Given the description of an element on the screen output the (x, y) to click on. 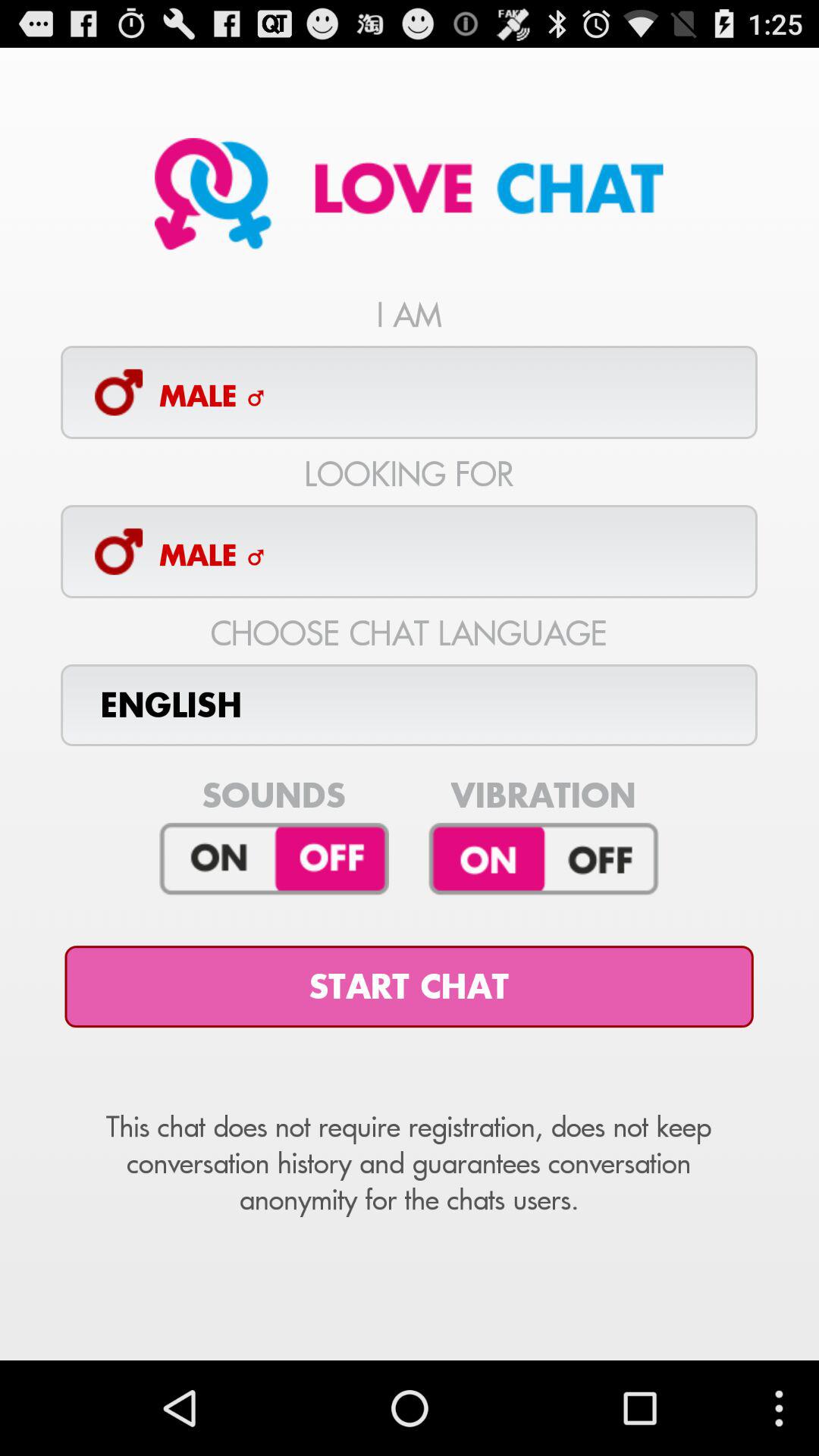
vibration settings (543, 858)
